Given the description of an element on the screen output the (x, y) to click on. 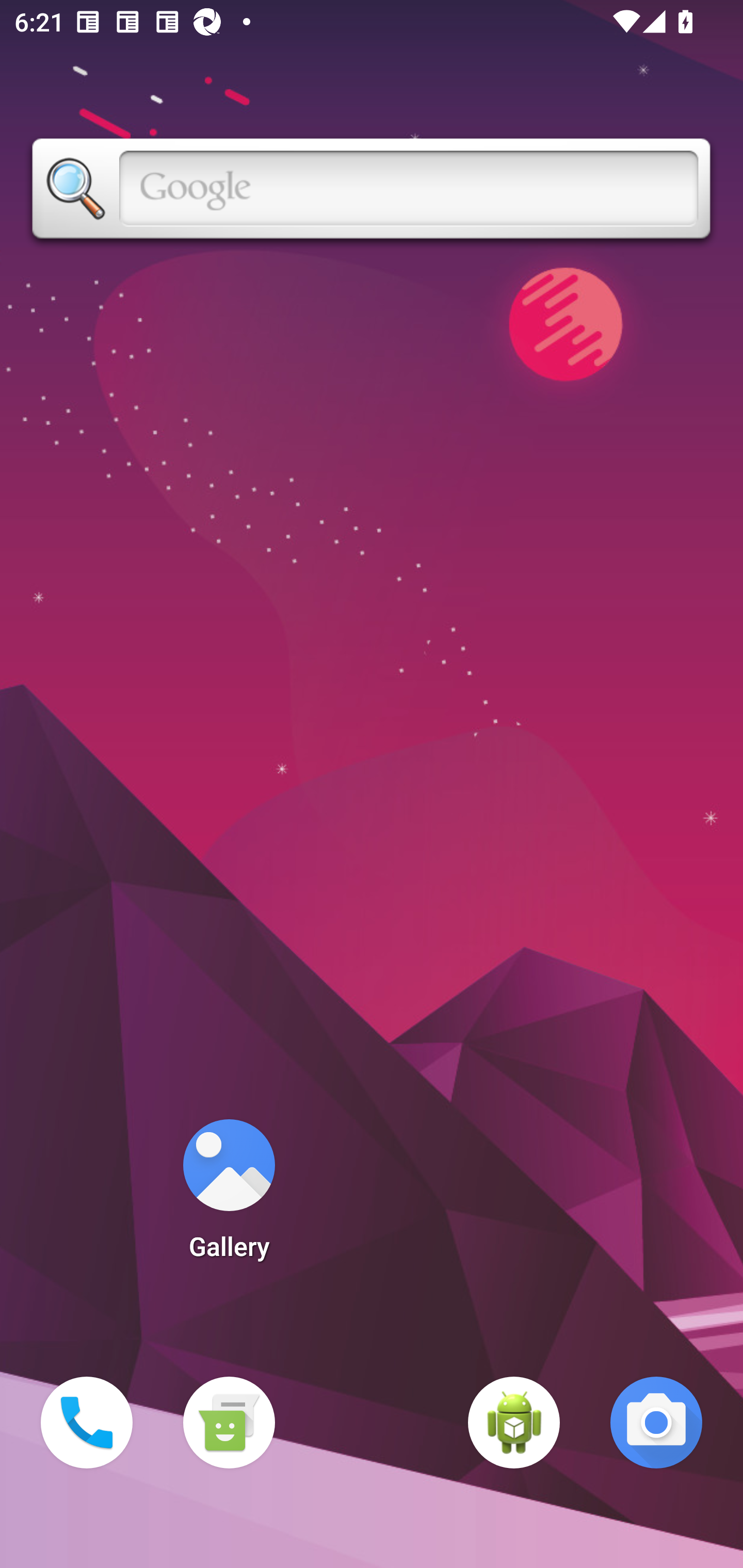
Gallery (228, 1195)
Phone (86, 1422)
Messaging (228, 1422)
WebView Browser Tester (513, 1422)
Camera (656, 1422)
